Given the description of an element on the screen output the (x, y) to click on. 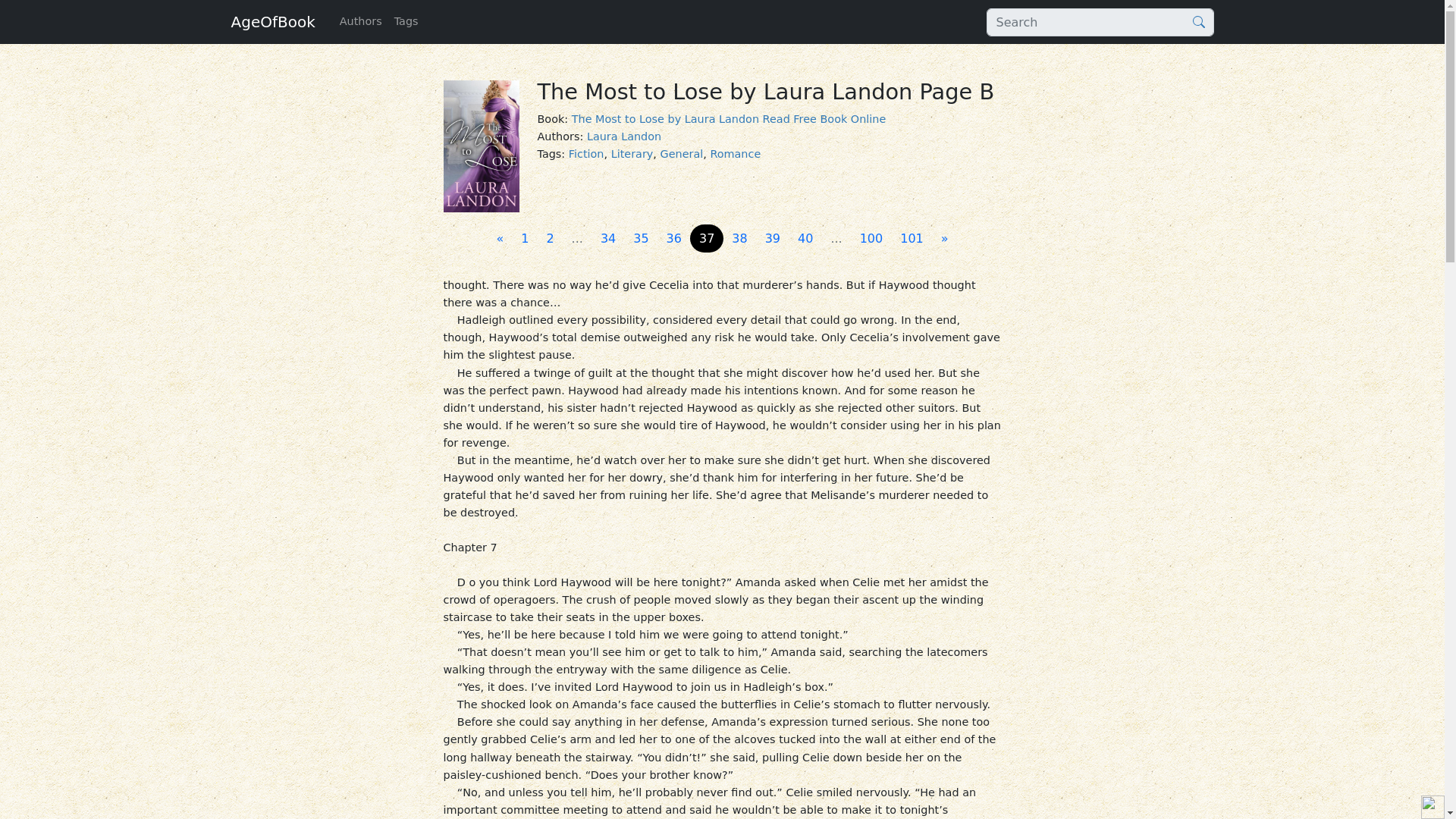
39 (772, 238)
AgeOfBook (272, 21)
Fiction (586, 153)
35 (641, 238)
38 (738, 238)
36 (674, 238)
... (835, 238)
2 (549, 238)
The Most to Lose by Laura Landon Read Free Book Online (729, 119)
Literary (632, 153)
